Given the description of an element on the screen output the (x, y) to click on. 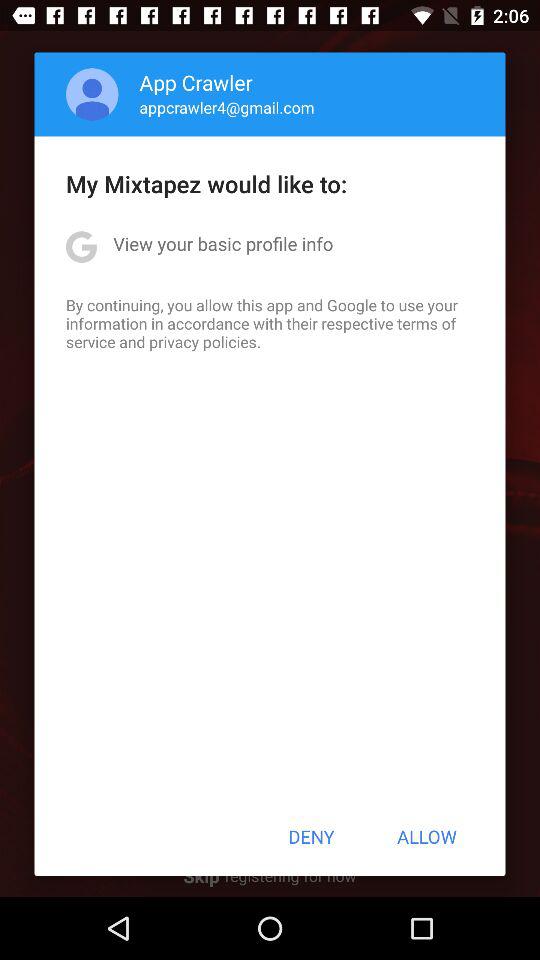
select the button next to allow (311, 836)
